Given the description of an element on the screen output the (x, y) to click on. 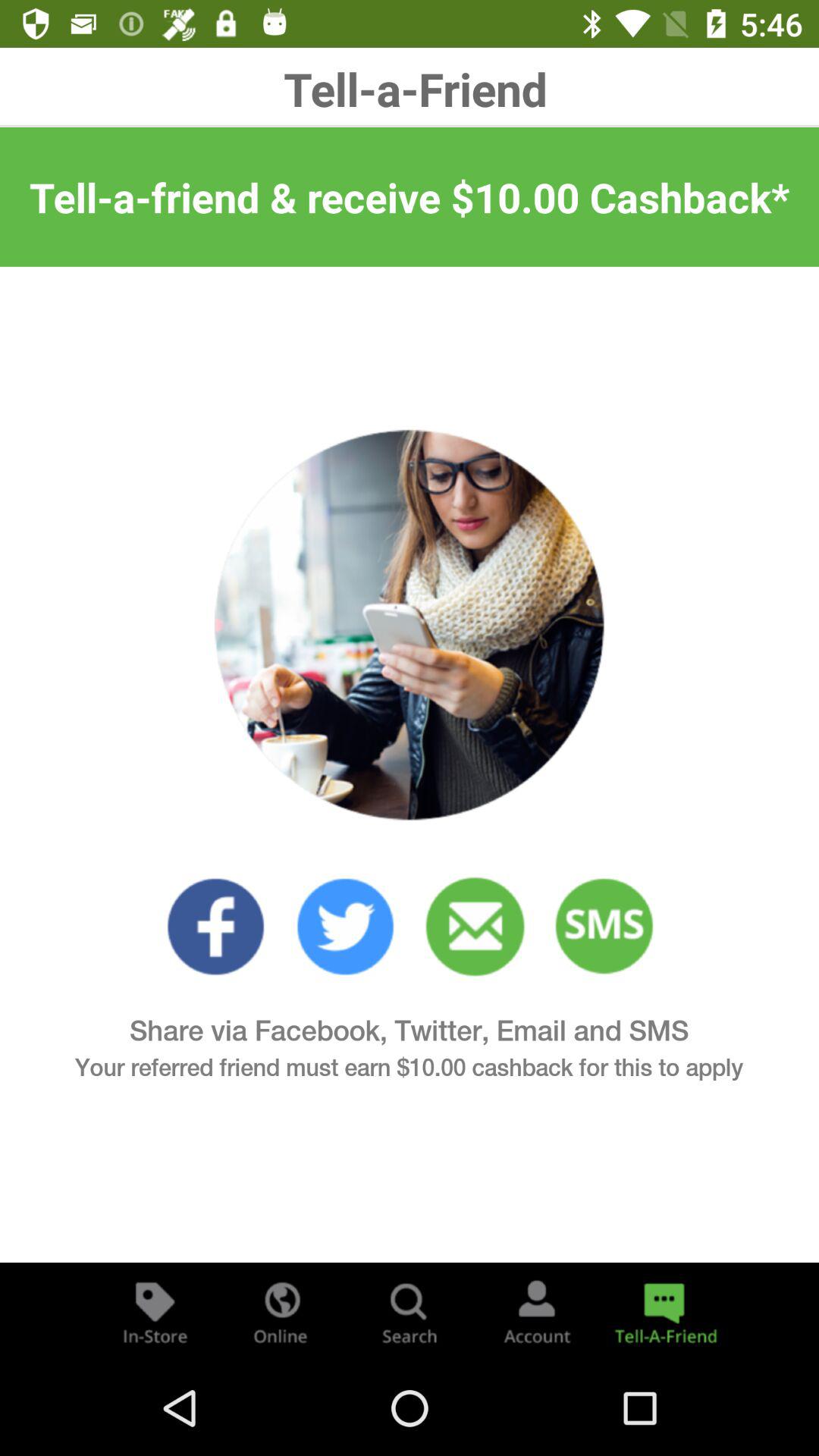
go to search (409, 1311)
